Given the description of an element on the screen output the (x, y) to click on. 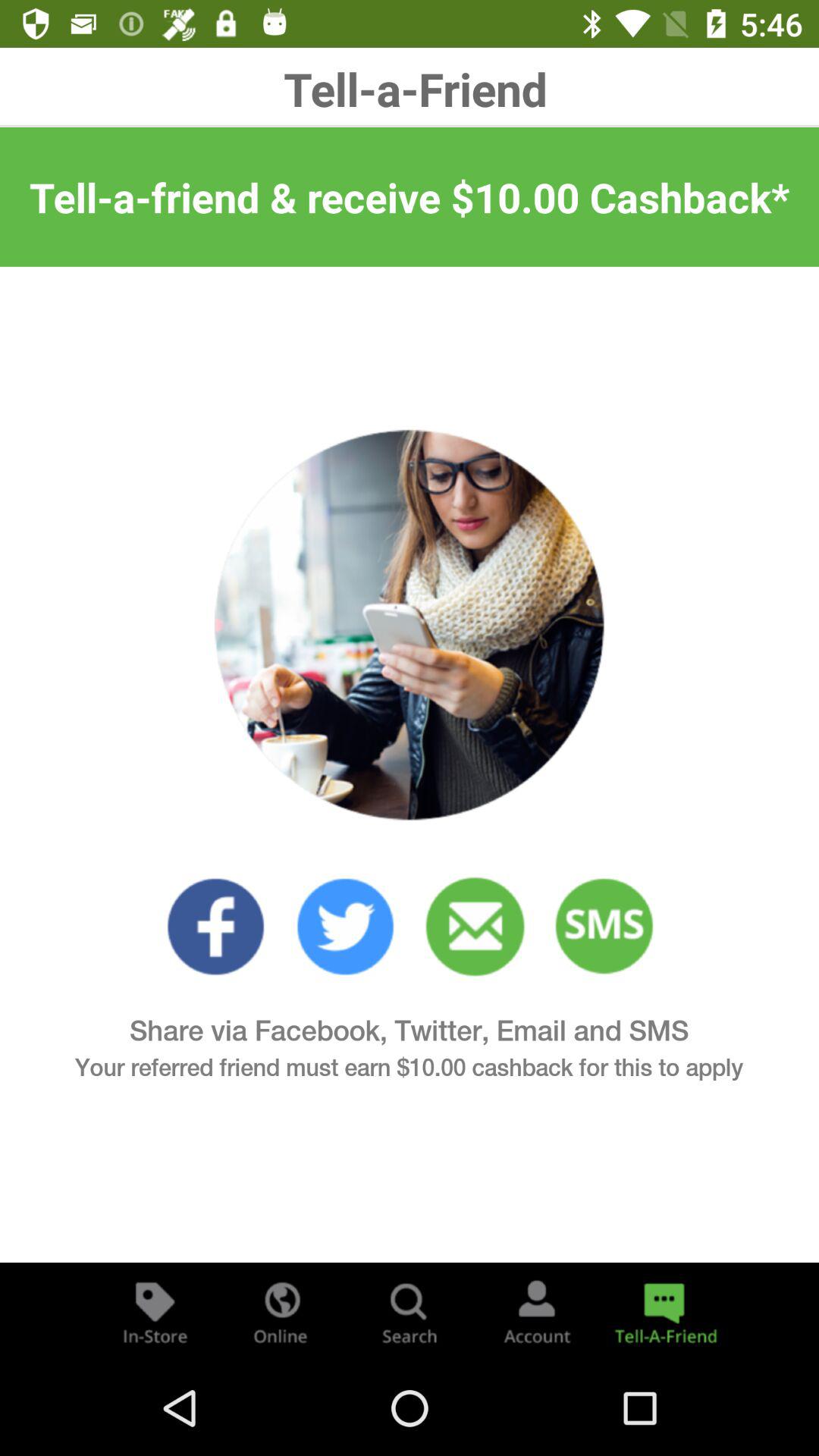
go to search (409, 1311)
